Given the description of an element on the screen output the (x, y) to click on. 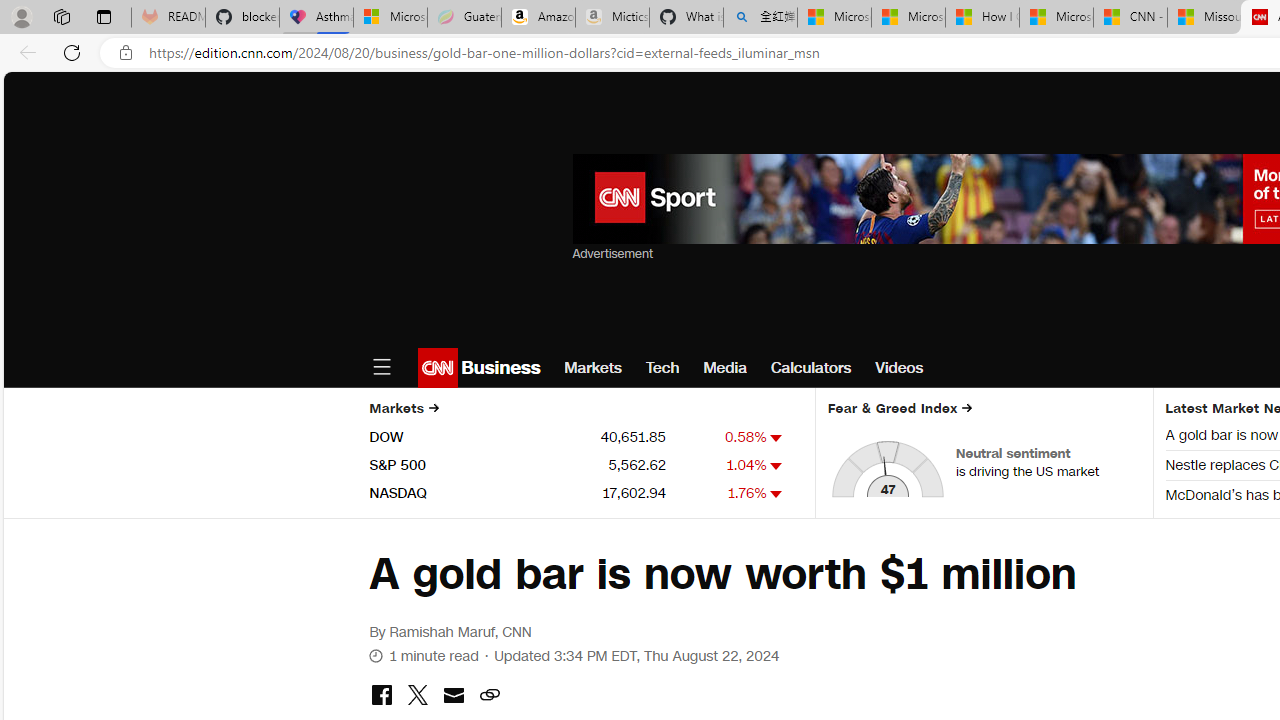
CNN - MSN (1130, 17)
Class: right-arrow (967, 408)
Calculators (811, 367)
copy link to clipboard (489, 696)
Class: icon-social-email-fill (453, 695)
Open Menu Icon (381, 367)
Neutral sentiment is driving the US market (1048, 462)
share with email (453, 697)
share with facebook (381, 696)
